Given the description of an element on the screen output the (x, y) to click on. 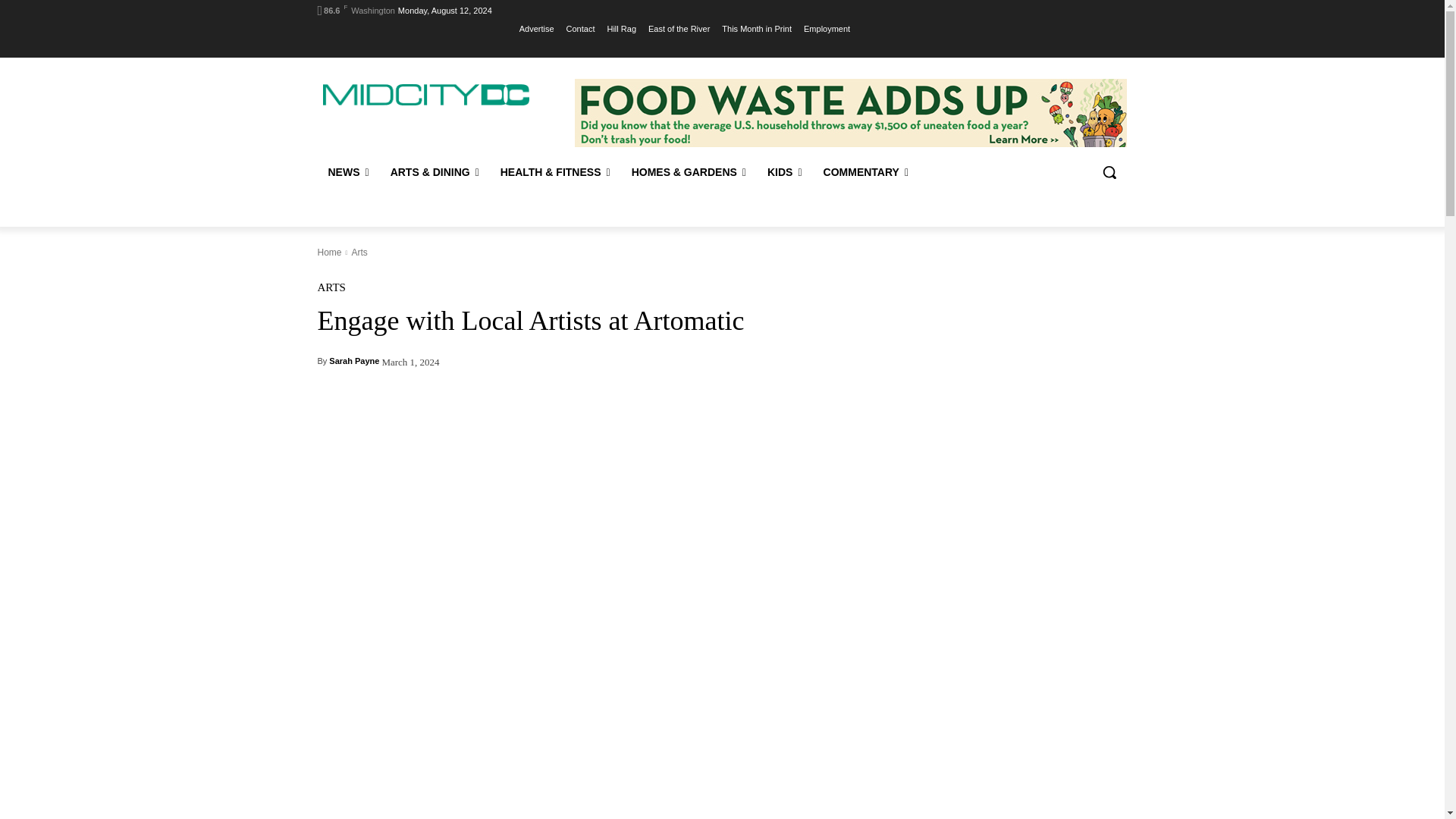
Contact (580, 28)
This Month in Print (757, 28)
East of the River (678, 28)
Employment (826, 28)
Hill Rag (621, 28)
NEWS (347, 171)
Advertise (536, 28)
